Given the description of an element on the screen output the (x, y) to click on. 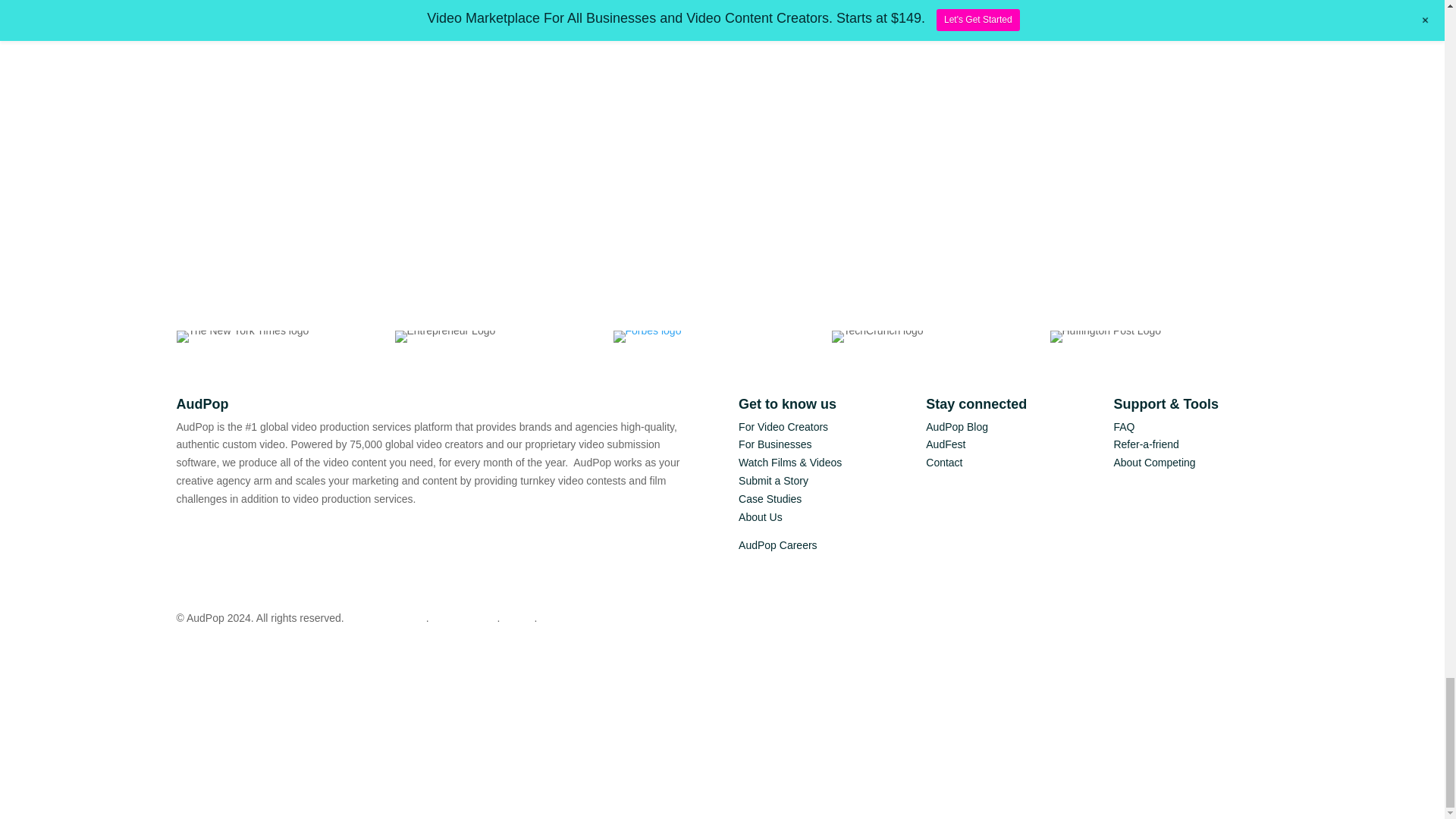
ny-times-logo (242, 336)
Follow on Twitter (247, 536)
Follow on LinkedIn (278, 536)
huffpost-logo (1104, 336)
entrepreneur-logo (444, 336)
forbes-logo (646, 336)
techcrunch-logo (877, 336)
Follow on Facebook (188, 536)
Follow on Instagram (218, 536)
